Given the description of an element on the screen output the (x, y) to click on. 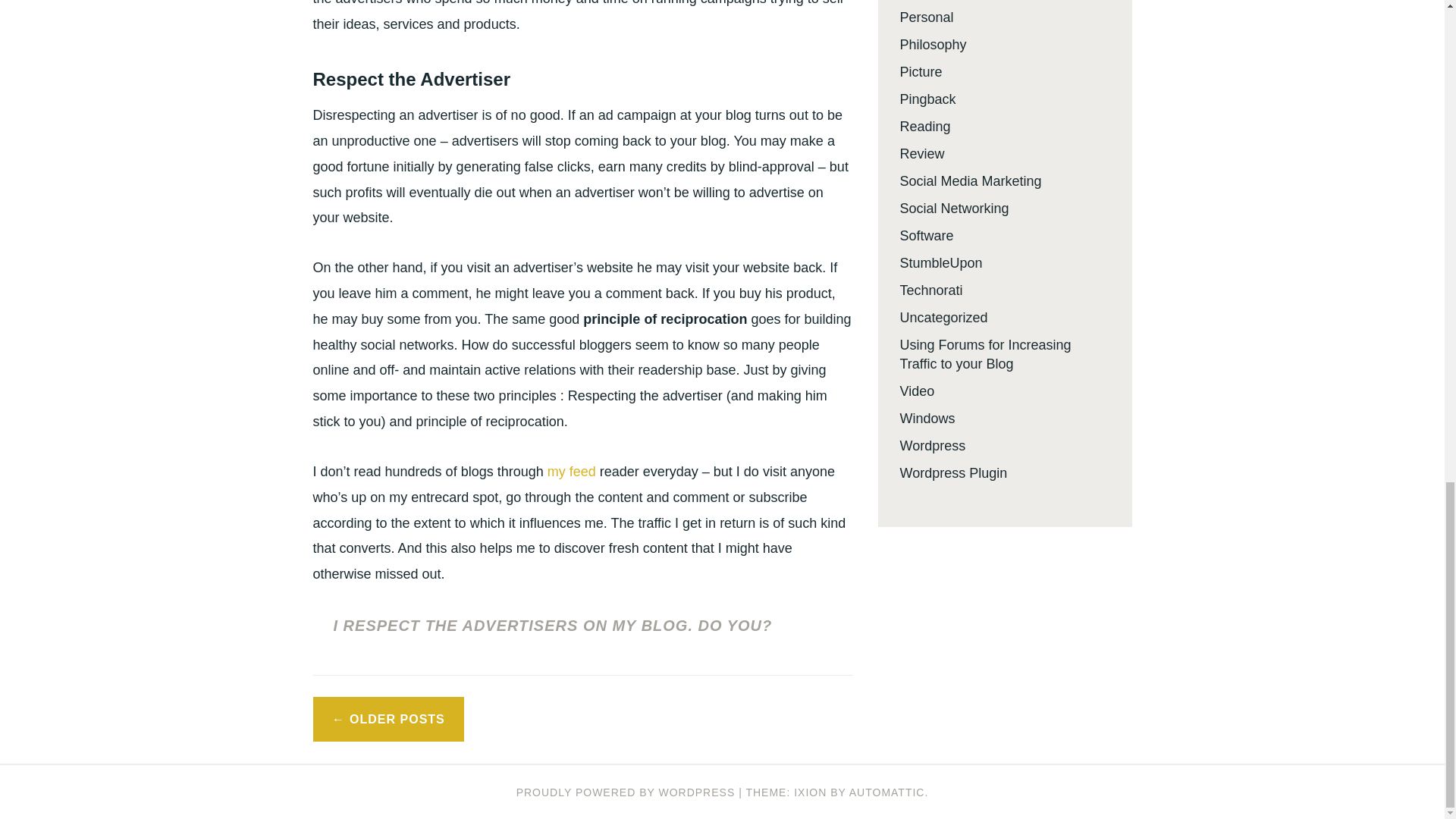
OLDER POSTS (388, 719)
Subscribe to Inspirit Blog (571, 471)
my feed (571, 471)
